Given the description of an element on the screen output the (x, y) to click on. 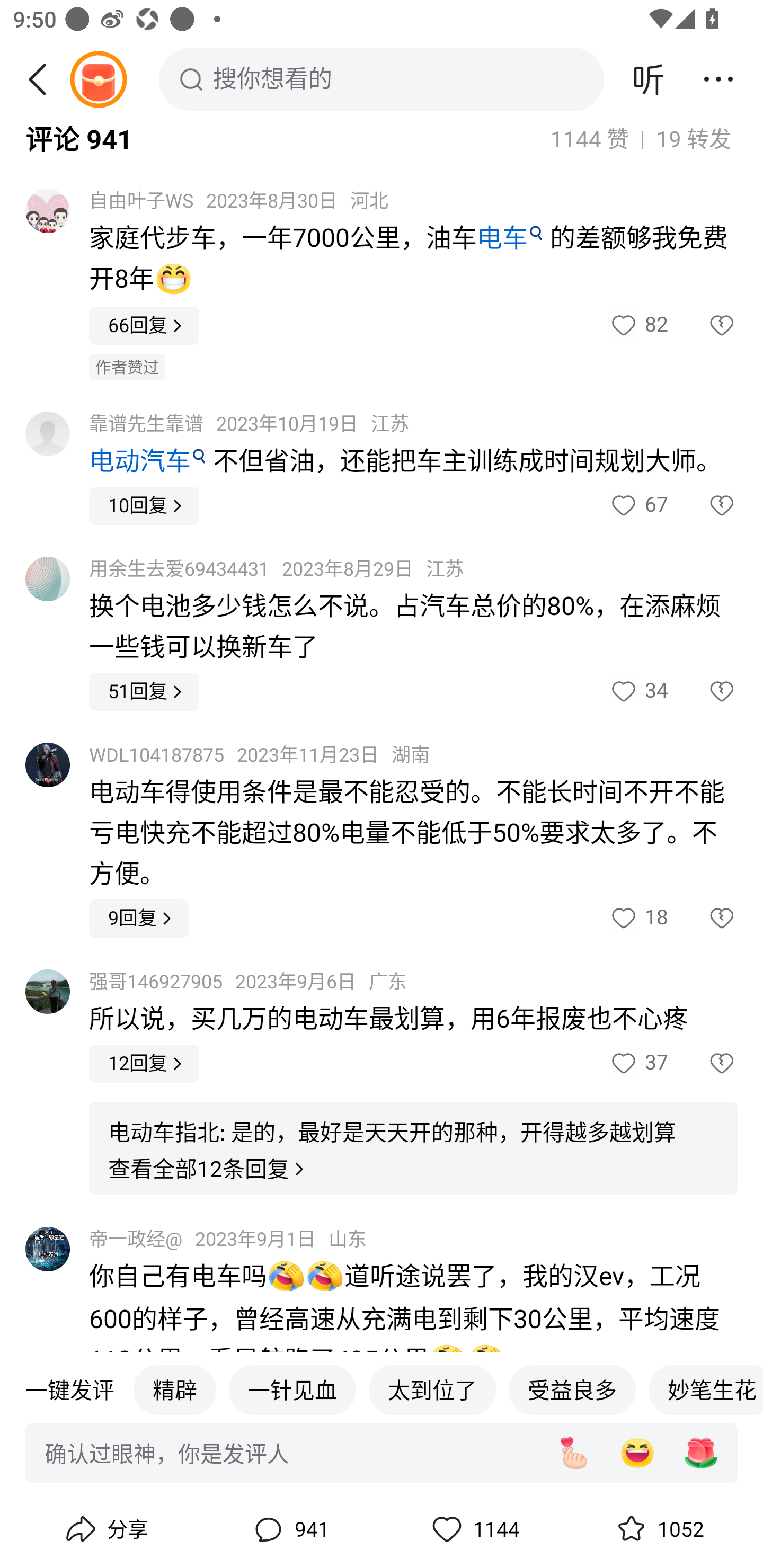
返回 (44, 78)
听头条 (648, 78)
更多操作 (718, 78)
搜你想看的 搜索框，搜你想看的 (381, 79)
阅读赚金币 (98, 79)
自由叶子WS 2023年8月30日 河北 (238, 200)
66回复 (144, 325)
赞82 赞 (637, 325)
踩 (702, 325)
靠谱先生靠谱 2023年10月19日 江苏 (248, 424)
10回复 (144, 505)
赞67 赞 (637, 505)
踩 (702, 505)
用余生去爱69434431 2023年8月29日 江苏 (276, 569)
51回复 (144, 691)
赞34 赞 (637, 691)
踩 (702, 691)
WDL104187875 2023年11月23日 湖南 (259, 755)
9回复 (138, 918)
赞18 赞 (637, 918)
踩 (702, 918)
强哥146927905 2023年9月6日 广东 (247, 981)
12回复 (144, 1063)
赞37 赞 (637, 1063)
踩 (702, 1063)
电动车指北: 是的，最好是天天开的那种，开得越多越划算 查看全部12条回复 (413, 1148)
查看全部12条回复 (208, 1169)
帝一政经@ 2023年9月1日 山东 (228, 1239)
精辟 (174, 1389)
一针见血 (292, 1389)
太到位了 (431, 1389)
受益良多 (571, 1389)
妙笔生花 (705, 1389)
[比心] (573, 1453)
[大笑] (636, 1453)
[玫瑰] (700, 1453)
分享 (104, 1529)
评论,941 941 (288, 1529)
收藏,1052 1052 (658, 1529)
